Given the description of an element on the screen output the (x, y) to click on. 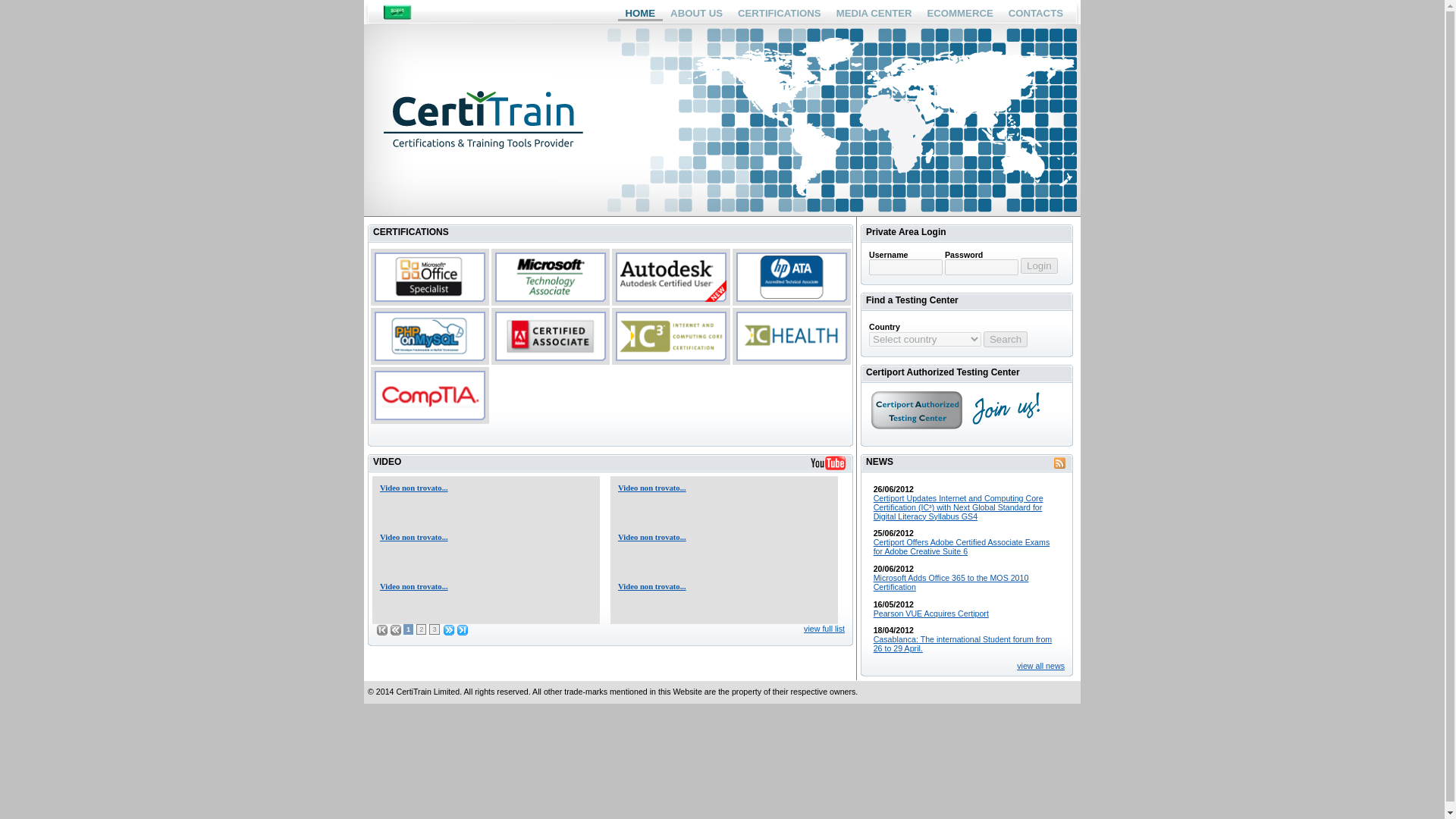
Video non trovato... (651, 537)
ABOUT US (696, 12)
Video non trovato... (651, 586)
ECOMMERCE (960, 12)
3 (434, 629)
Search (1005, 339)
Video non trovato... (414, 488)
CONTACTS (1035, 12)
Video non trovato... (414, 537)
Video non trovato... (651, 488)
Search (1005, 339)
Login (1039, 265)
CERTIFICATIONS (779, 12)
Login (1039, 265)
Video non trovato... (414, 586)
